Given the description of an element on the screen output the (x, y) to click on. 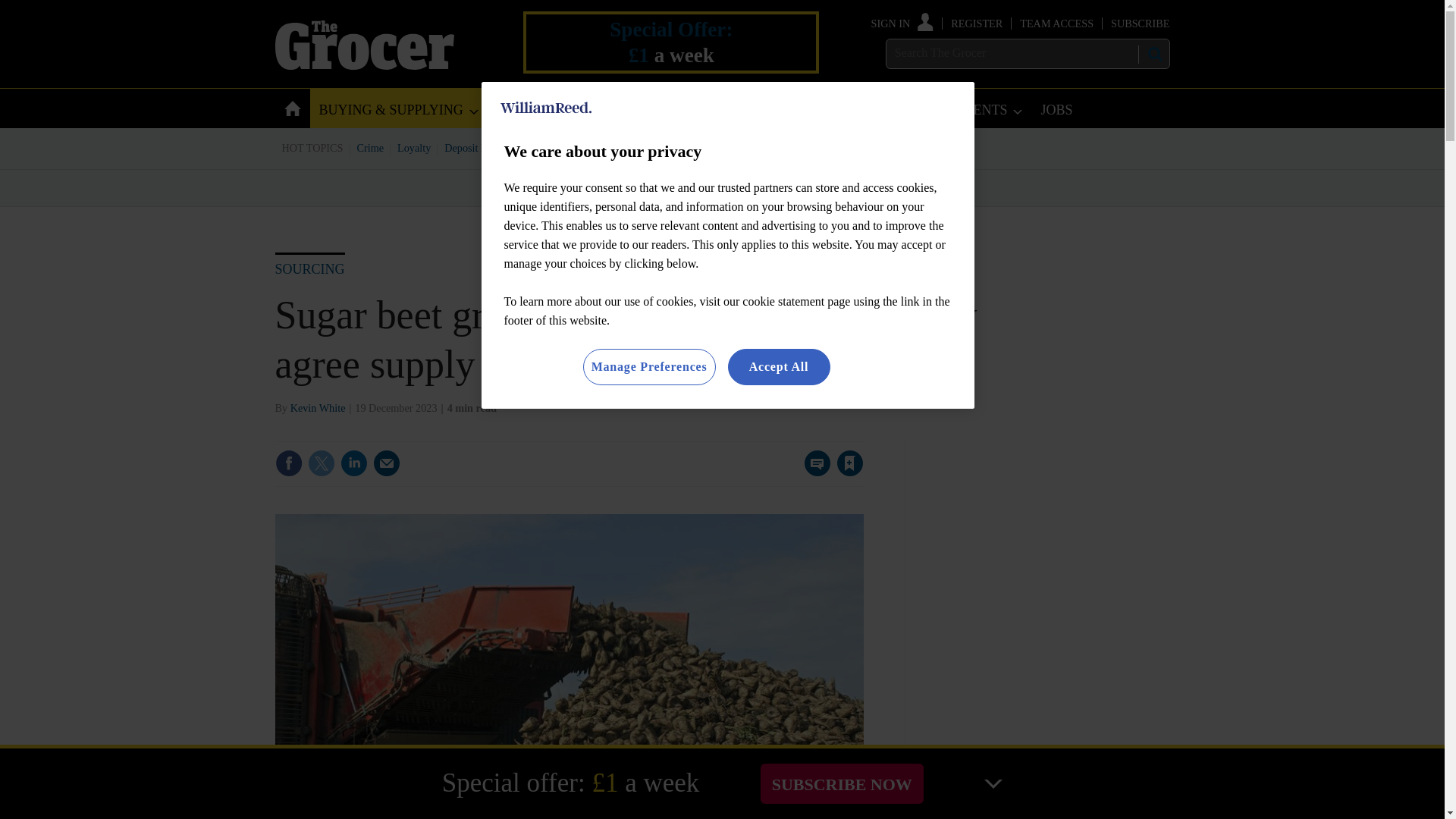
No comments (812, 472)
Share this on Twitter (320, 462)
SIGN IN (902, 23)
SUBSCRIBE (1139, 23)
Site name (363, 65)
Deposit Return Schemes (497, 147)
Loyalty (414, 147)
Share this on Linked in (352, 462)
William Reed (545, 107)
Share this on Facebook (288, 462)
SUBSCRIBE NOW (841, 783)
Email this article (386, 462)
TEAM ACCESS (1056, 23)
KVI price tracker (602, 147)
Crime (370, 147)
